Given the description of an element on the screen output the (x, y) to click on. 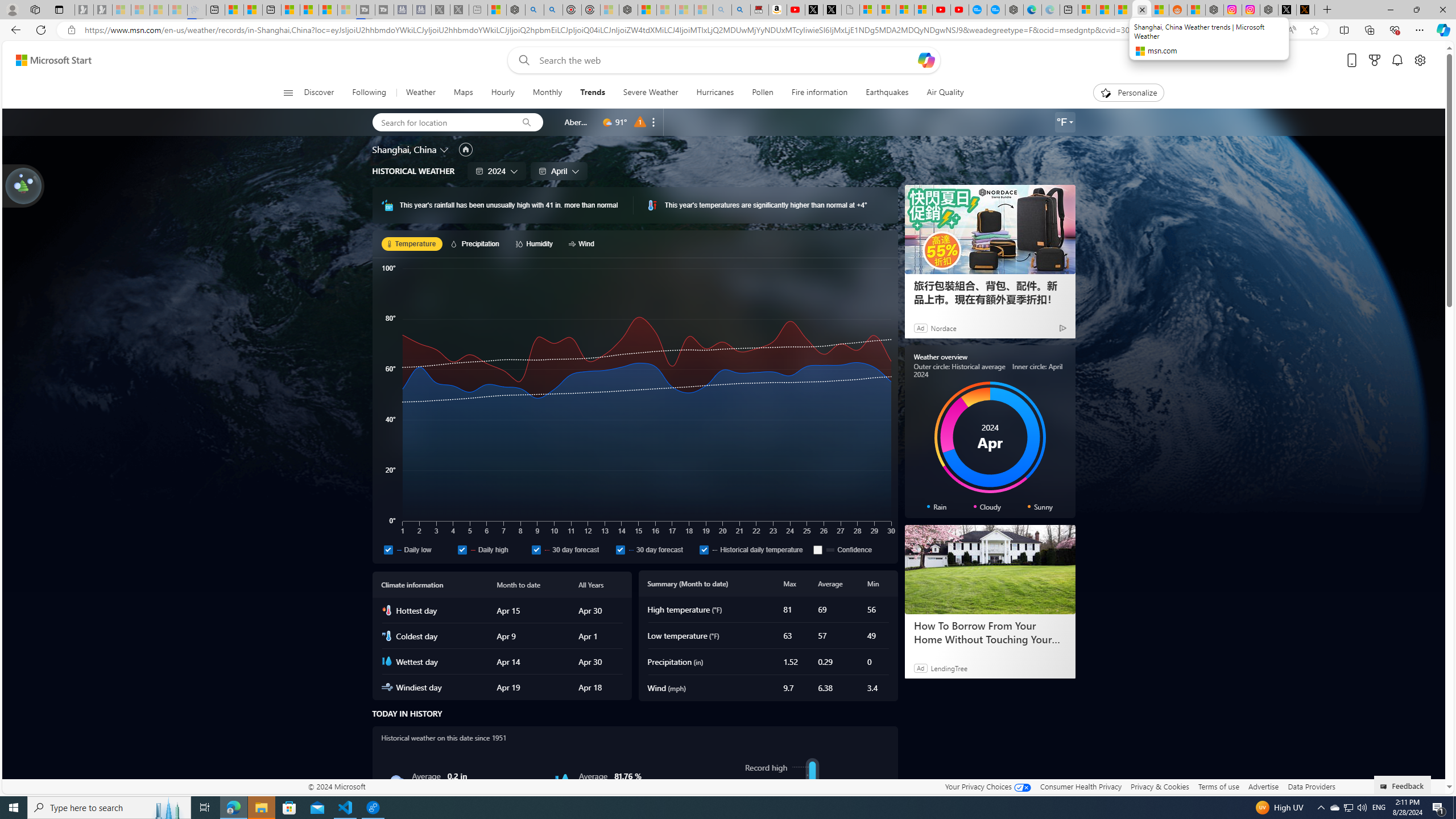
Maps (462, 92)
Web search (520, 60)
April (558, 170)
Humidity (562, 781)
Daily low (387, 549)
30 day forecast (619, 549)
Confidence (817, 549)
Rain (396, 781)
